Given the description of an element on the screen output the (x, y) to click on. 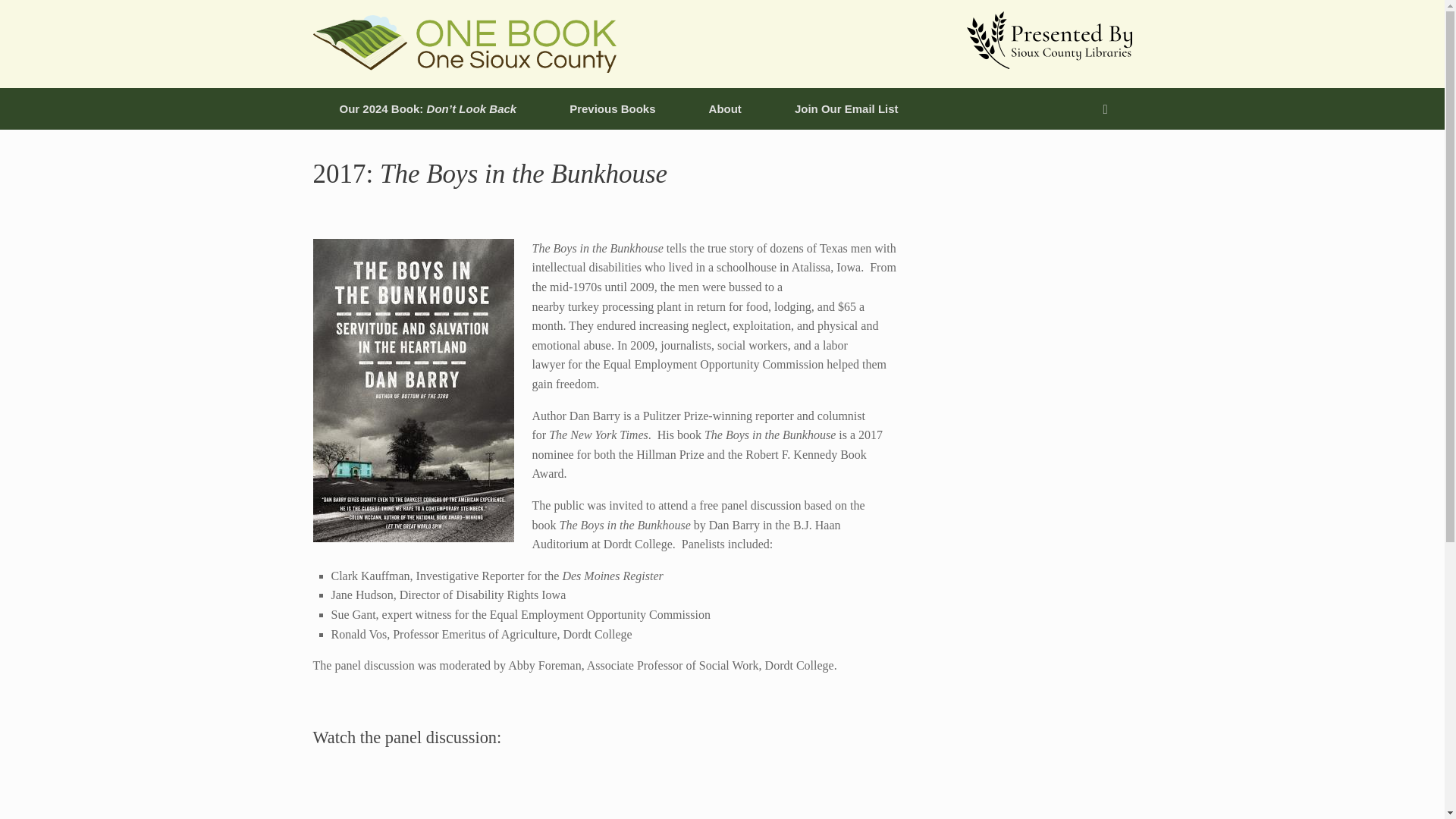
Join Our Email List (846, 108)
About (725, 108)
One Book One Sioux County (464, 43)
Previous Books (612, 108)
